Given the description of an element on the screen output the (x, y) to click on. 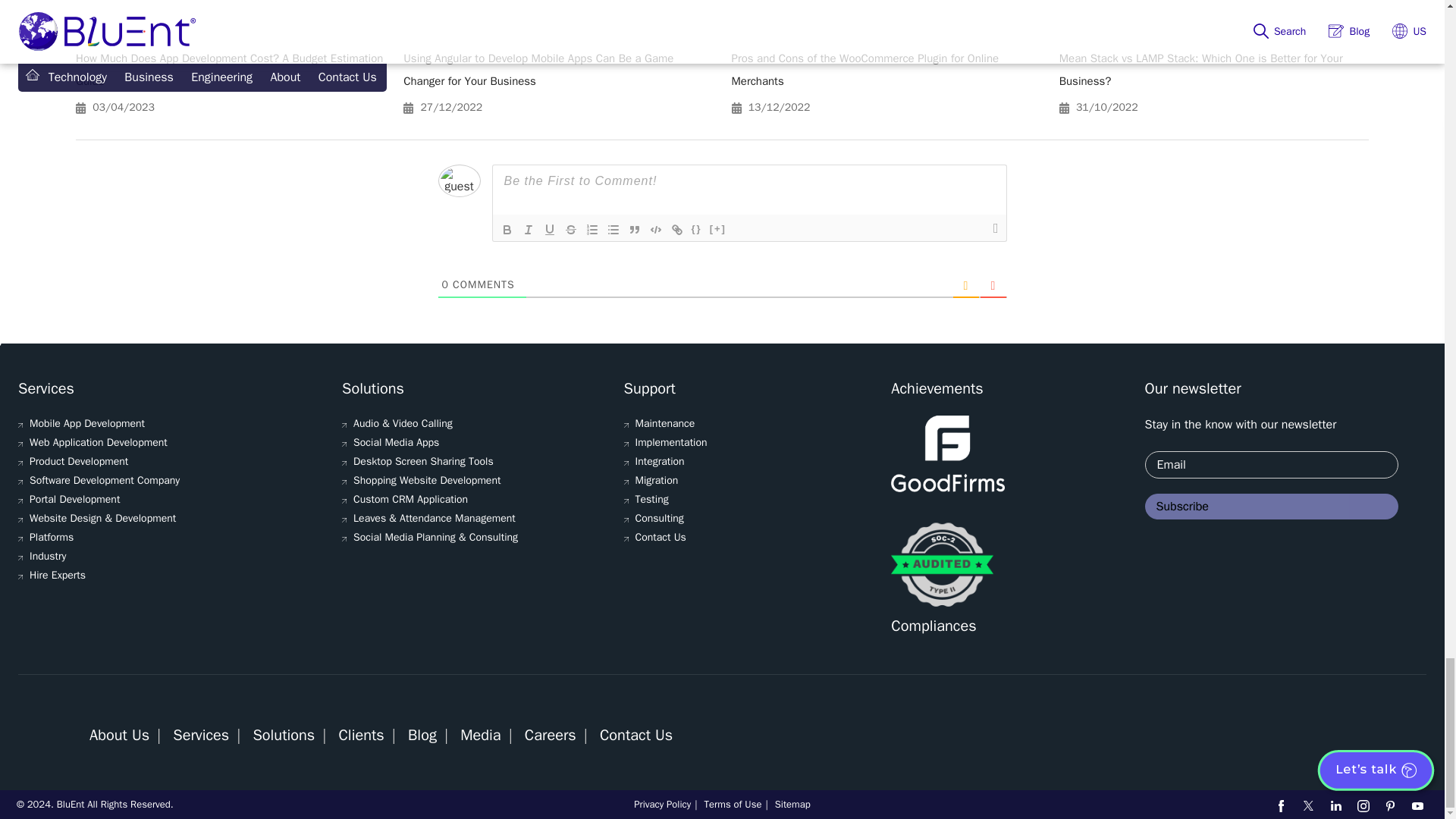
Code Block (655, 229)
Bold (506, 229)
Strike (569, 229)
Ordered List (591, 229)
Italic (527, 229)
Underline (548, 229)
Blockquote (634, 229)
Subscribe (1270, 506)
Unordered List (612, 229)
